Given the description of an element on the screen output the (x, y) to click on. 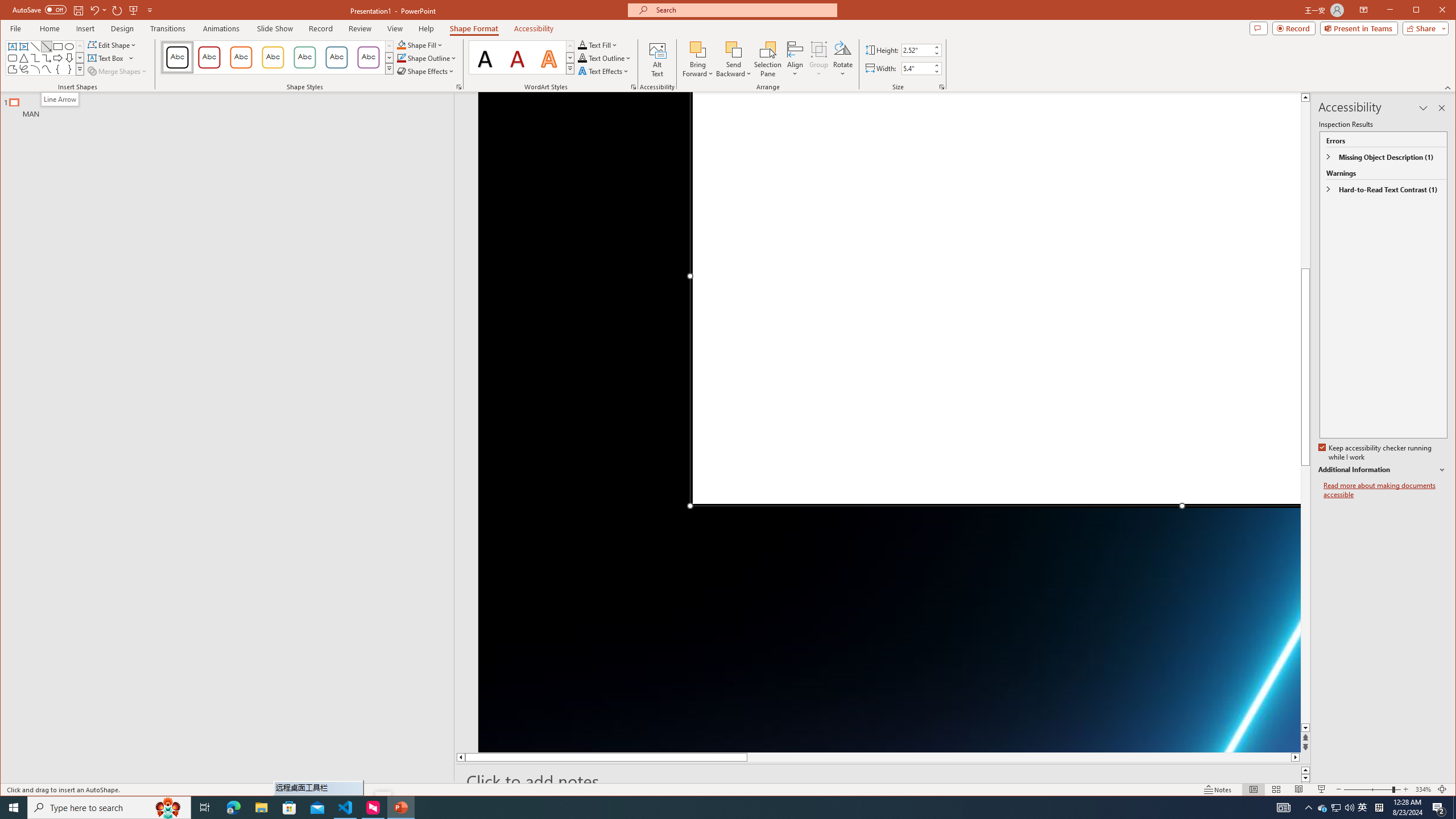
Colored Outline - Gold, Accent 3 (272, 57)
Size and Position... (941, 86)
Text Fill RGB(0, 0, 0) (582, 44)
Fill: Dark Red, Accent color 1; Shadow (517, 57)
Send Backward (733, 48)
